Given the description of an element on the screen output the (x, y) to click on. 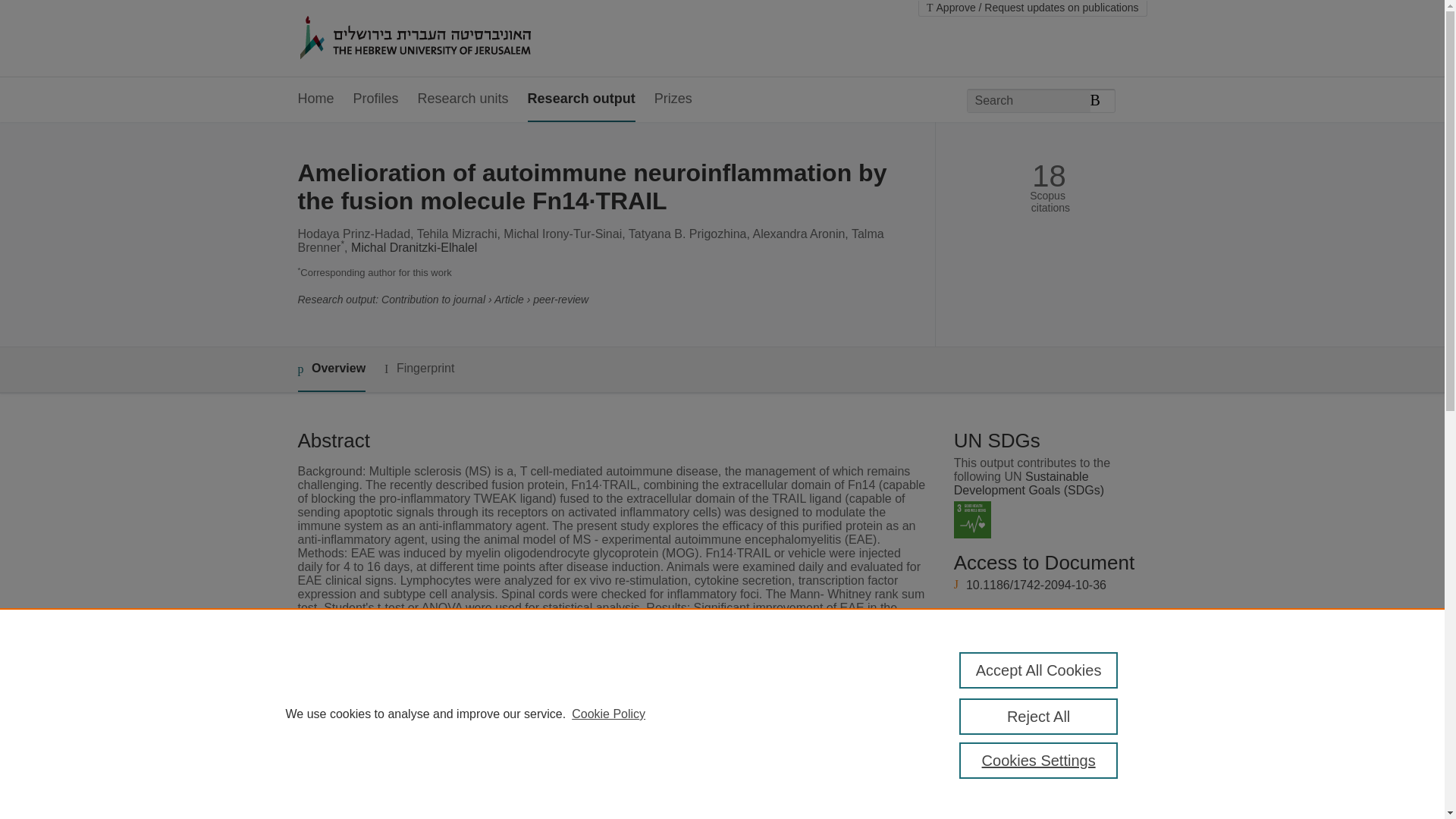
Profiles (375, 99)
Journal of Neuroinflammation (587, 803)
Fingerprint (419, 368)
Michal Dranitzki-Elhalel (413, 246)
SDG 3 - Good Health and Well-being (972, 519)
Cookies Settings (1038, 760)
Link to publication in Scopus (1045, 644)
Reject All (1038, 716)
Cookie Policy (608, 713)
